Given the description of an element on the screen output the (x, y) to click on. 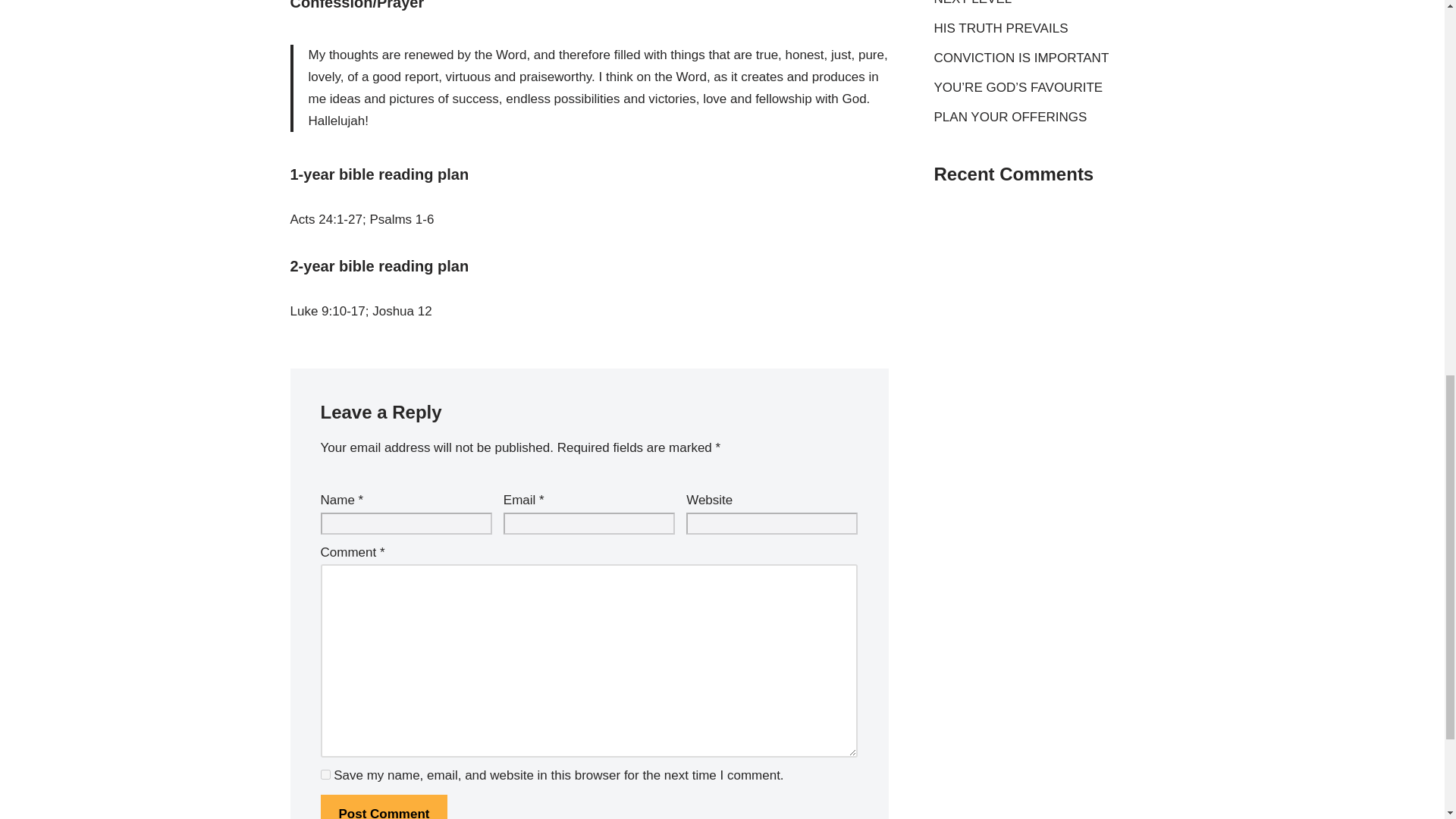
Post Comment (383, 806)
CONVICTION IS IMPORTANT (1021, 57)
PROJECT YOURSELF TO YOUR NEXT LEVEL (1031, 2)
PLAN YOUR OFFERINGS (1010, 116)
Post Comment (383, 806)
yes (325, 774)
HIS TRUTH PREVAILS (1001, 28)
